Given the description of an element on the screen output the (x, y) to click on. 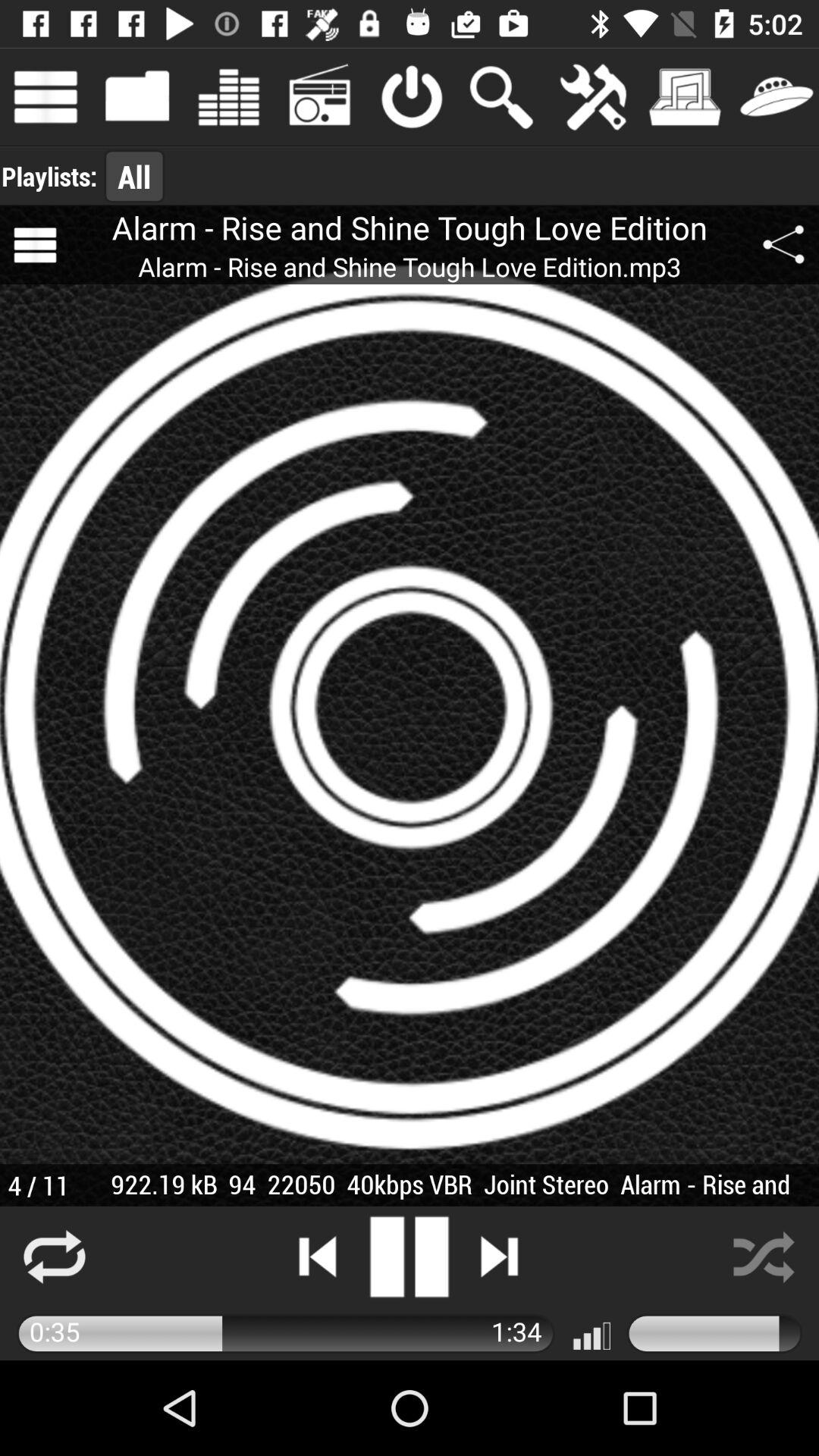
select the app next to the 922 19 kb icon (38, 1185)
